Given the description of an element on the screen output the (x, y) to click on. 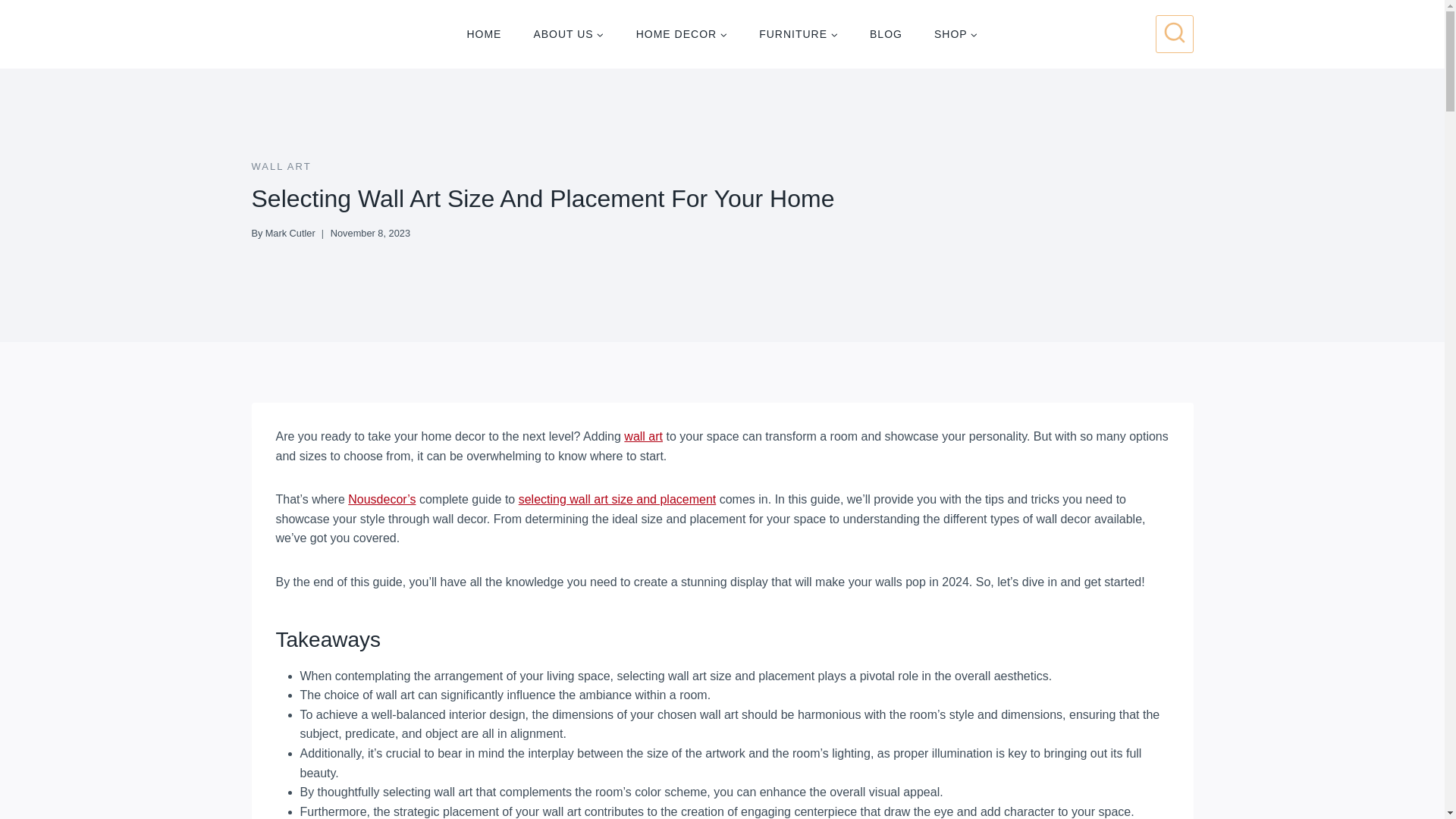
SHOP (956, 33)
selecting wall art size and placement (617, 499)
FURNITURE (797, 33)
WALL ART (281, 165)
BLOG (885, 33)
ABOUT US (568, 33)
wall art (643, 436)
HOME DECOR (681, 33)
Mark Cutler (289, 233)
HOME (482, 33)
